Given the description of an element on the screen output the (x, y) to click on. 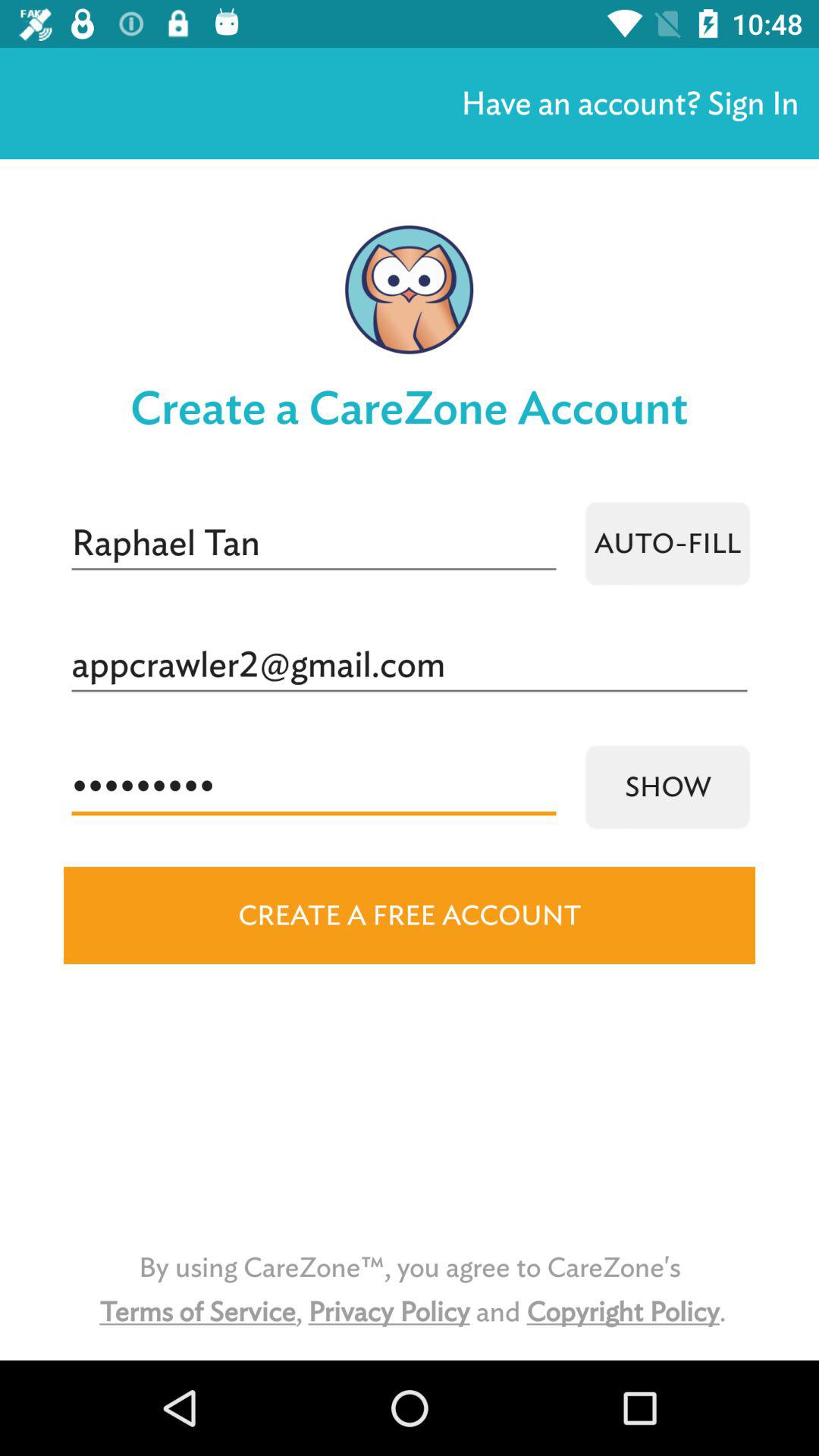
click the item below the auto-fill (409, 665)
